Given the description of an element on the screen output the (x, y) to click on. 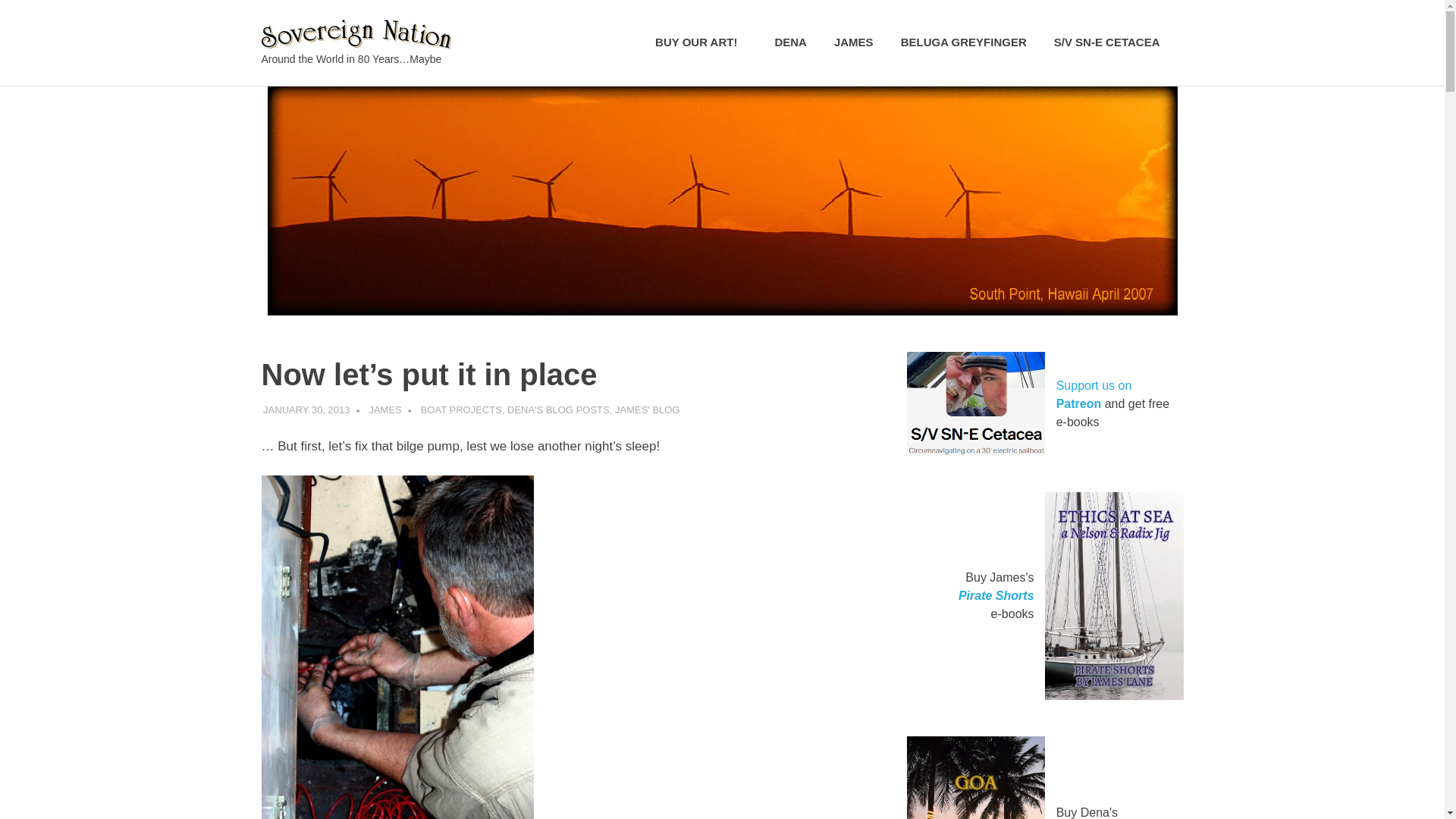
DENA'S BLOG POSTS (558, 409)
JAMES' BLOG (646, 409)
JANUARY 30, 2013 (306, 409)
BUY OUR ART! (701, 42)
View all posts by James (384, 409)
JAMES (853, 42)
10:52 pm (306, 409)
BELUGA GREYFINGER (963, 42)
DENA (790, 42)
BOAT PROJECTS (461, 409)
JAMES (384, 409)
